Given the description of an element on the screen output the (x, y) to click on. 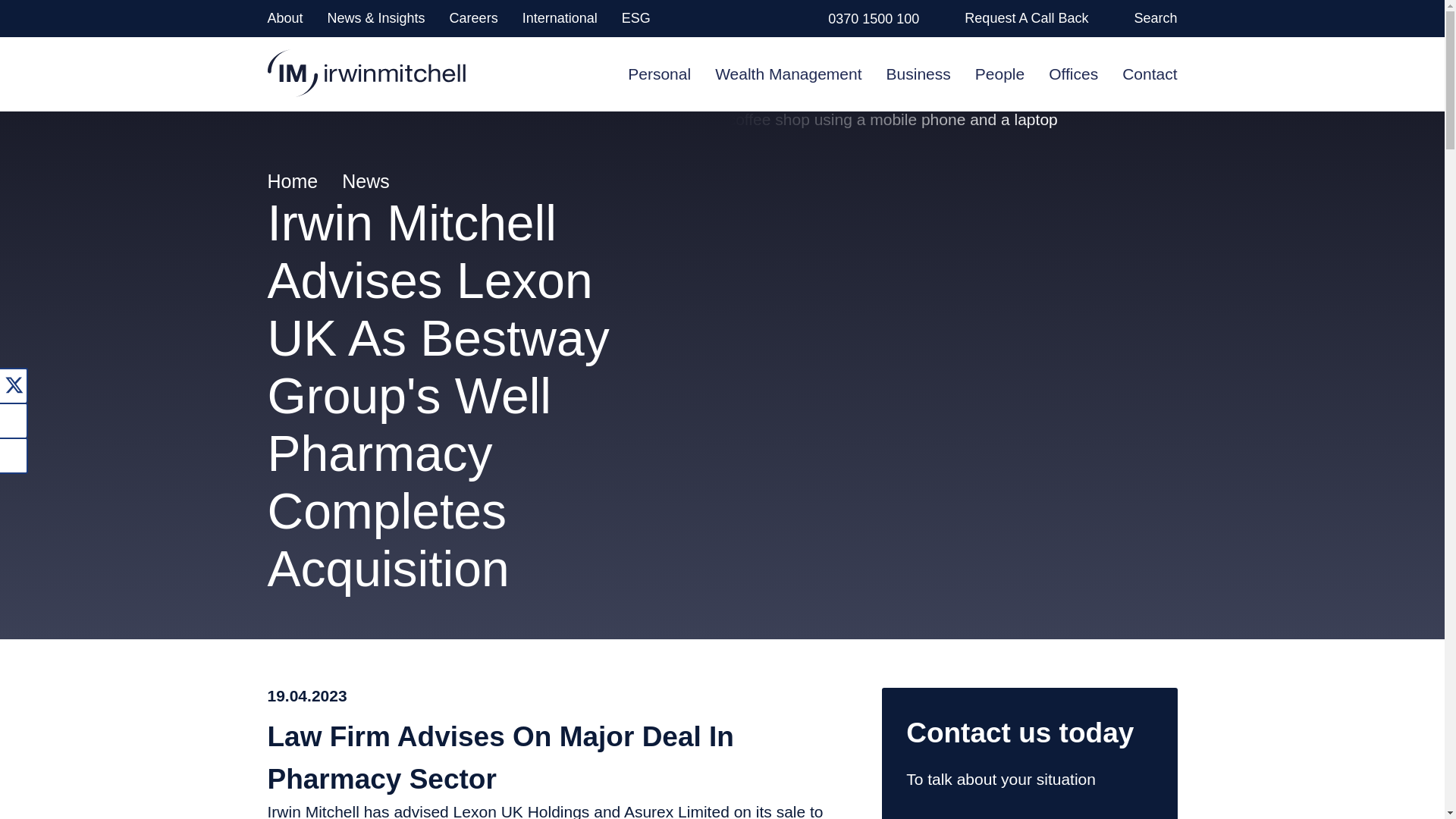
Personal (658, 73)
About (284, 18)
International (559, 18)
Careers (473, 18)
Request A Call Back (1025, 18)
Search (1155, 18)
0370 1500 100 (873, 18)
